Given the description of an element on the screen output the (x, y) to click on. 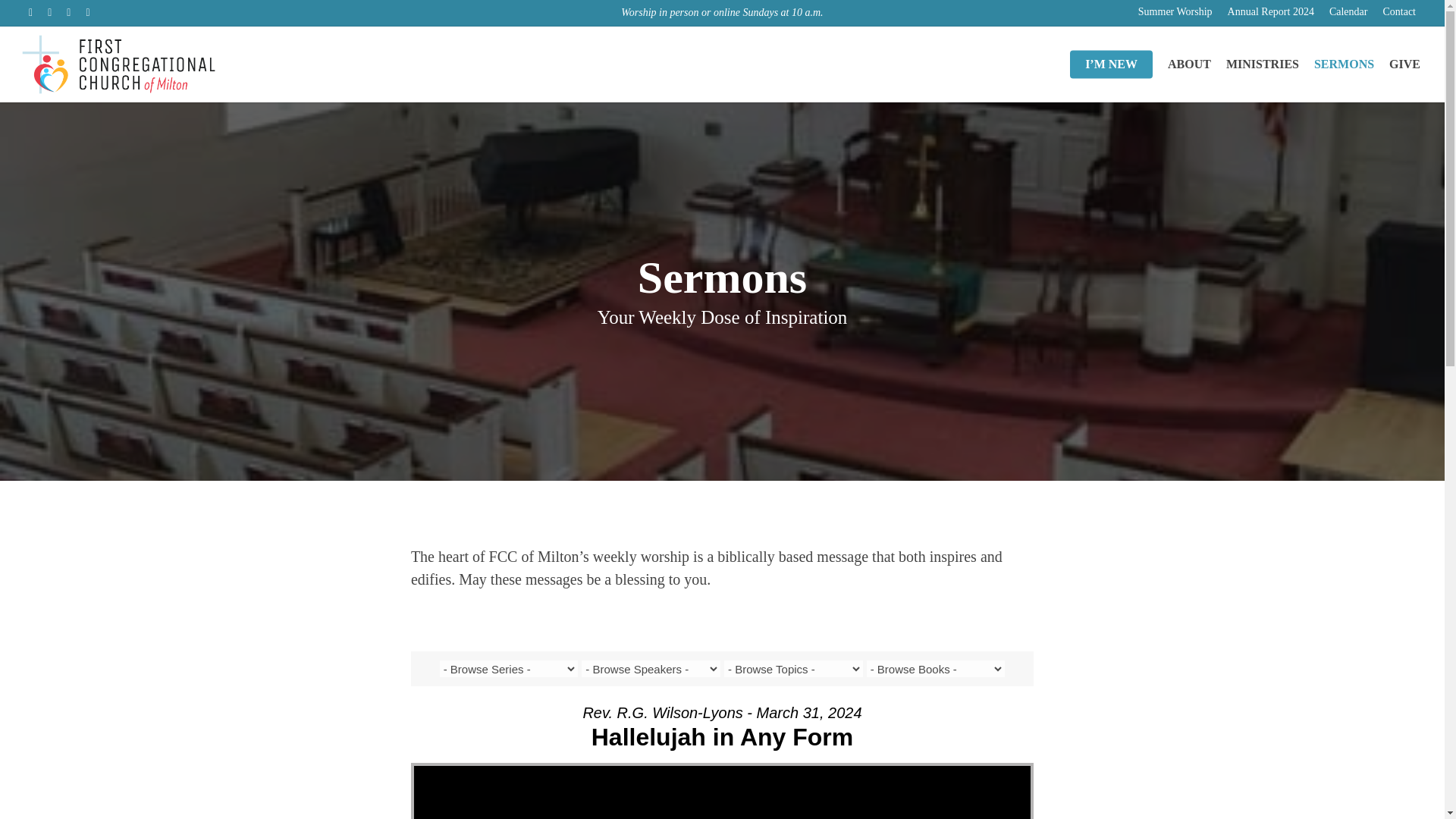
YouTube video player (721, 792)
SERMONS (1343, 64)
Annual Report 2024 (1271, 12)
MINISTRIES (1262, 64)
Calendar (1348, 12)
Worship in person or online Sundays at 10 a.m. (721, 12)
GIVE (1404, 64)
Summer Worship (1175, 12)
ABOUT (1189, 64)
Contact (1398, 12)
